Given the description of an element on the screen output the (x, y) to click on. 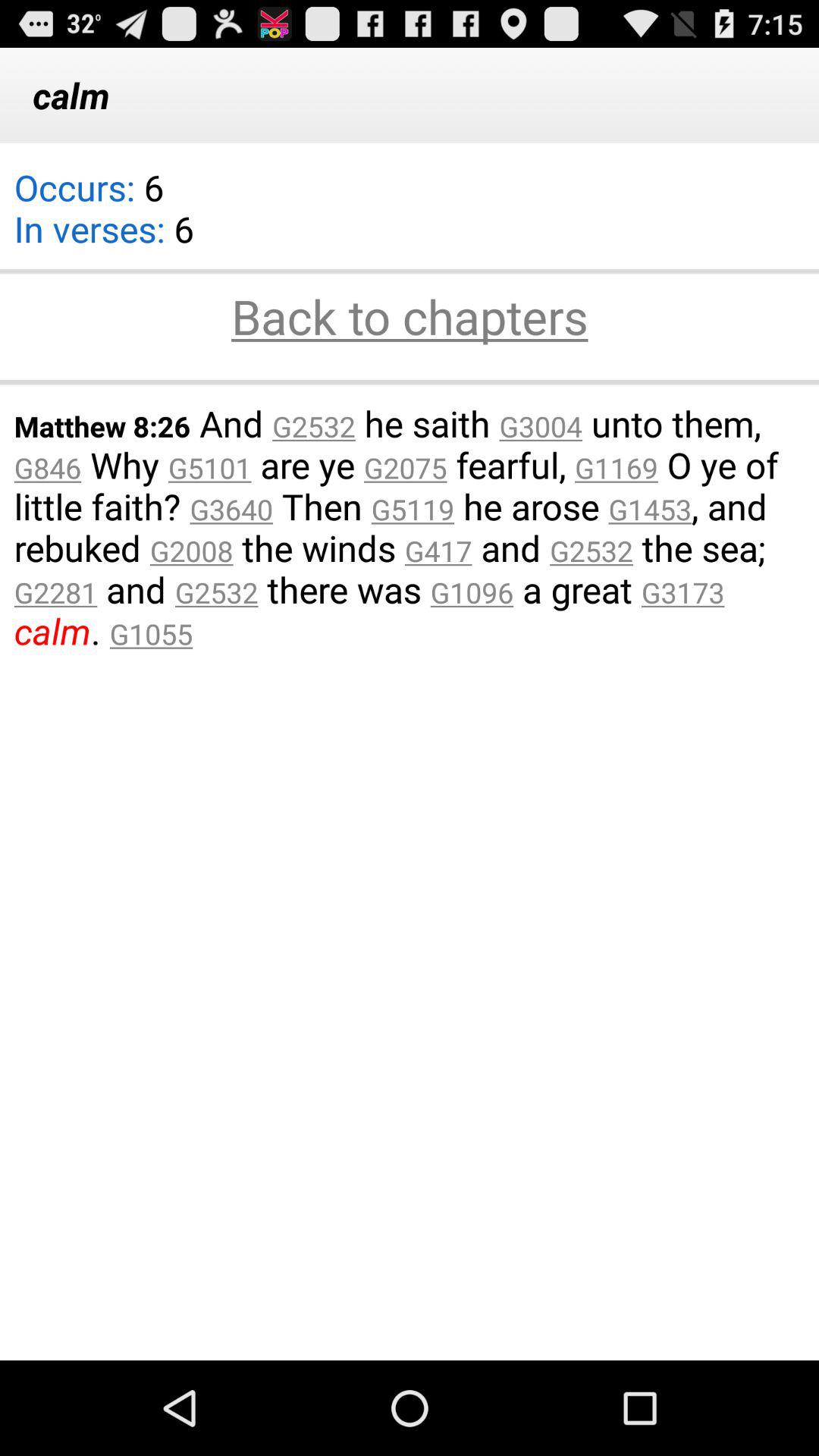
turn on occurs 6 in (103, 218)
